Given the description of an element on the screen output the (x, y) to click on. 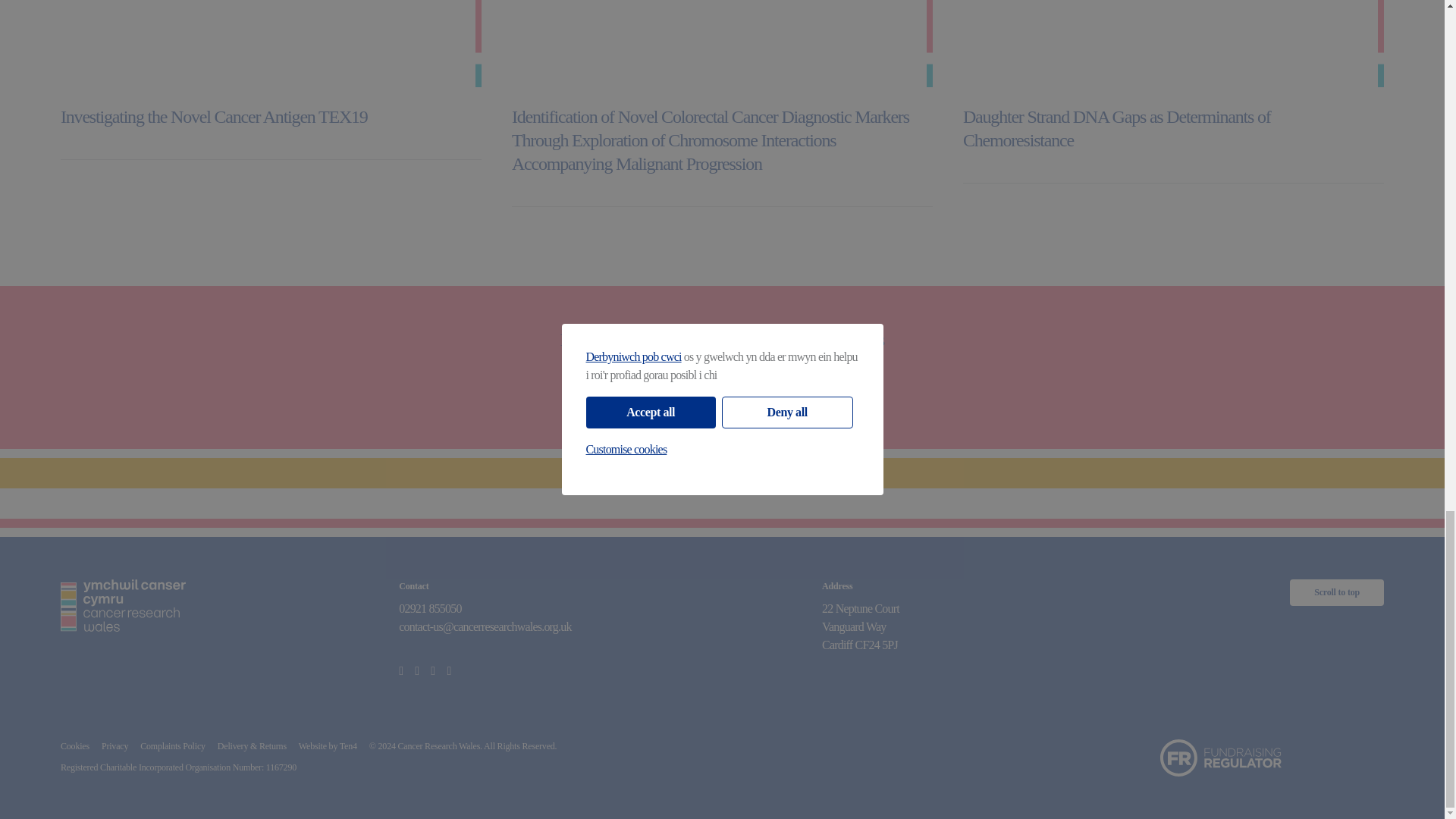
Scroll to top (1337, 592)
